Given the description of an element on the screen output the (x, y) to click on. 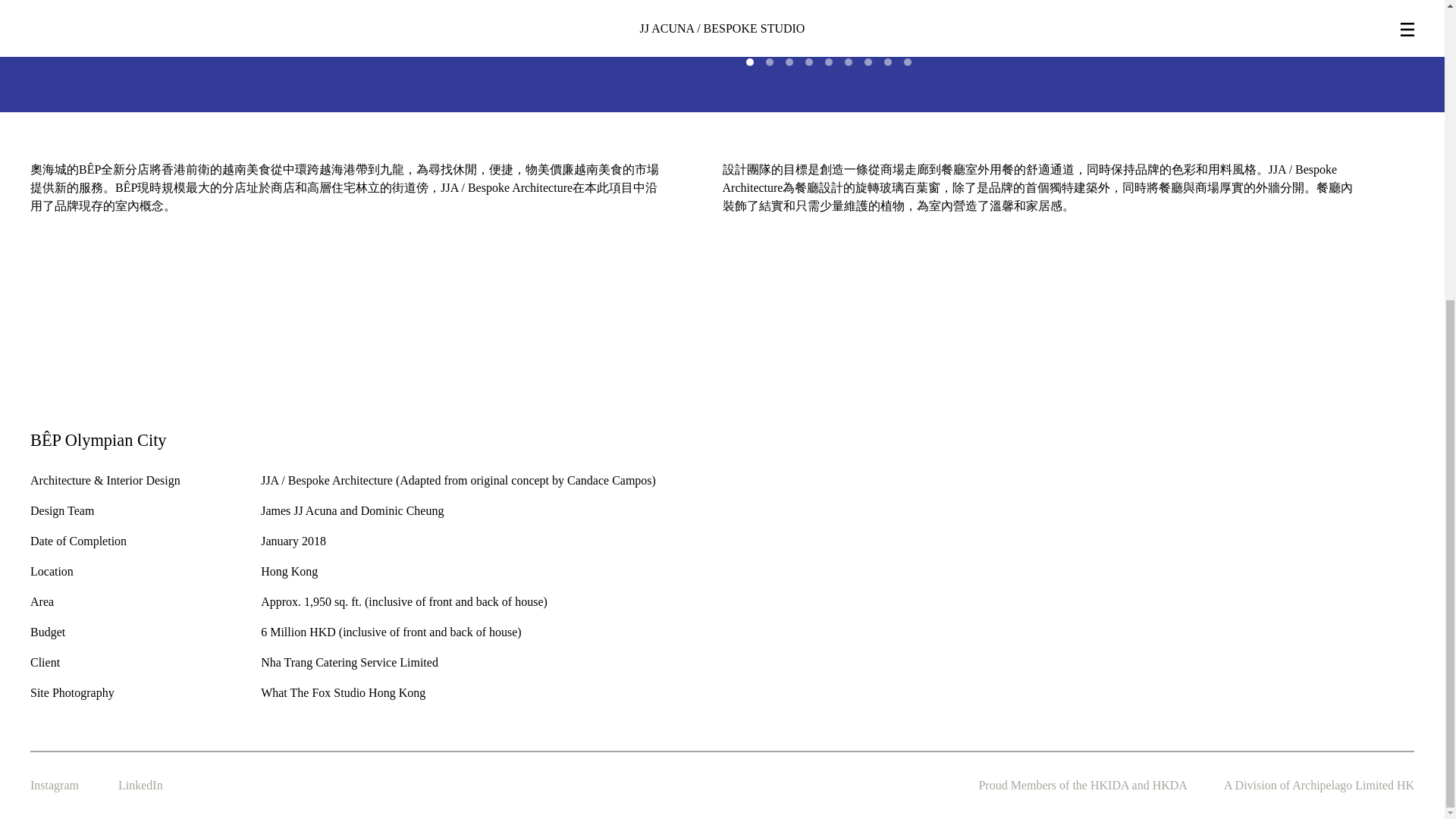
Instagram (54, 785)
LinkedIn (140, 785)
Proud Members of the HKIDA and HKDA (1083, 785)
A Division of Archipelago Limited HK (1318, 785)
